Given the description of an element on the screen output the (x, y) to click on. 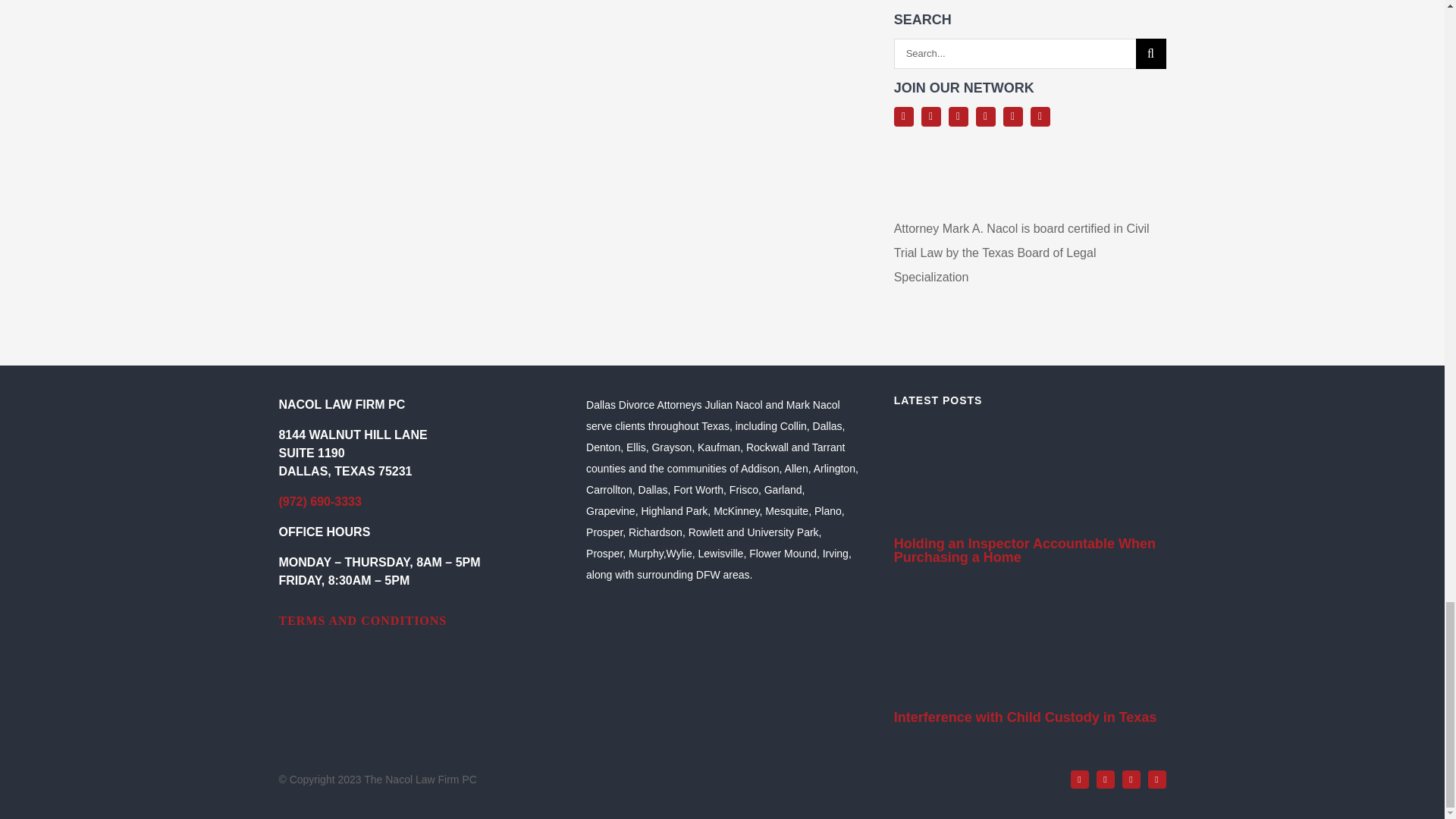
Twitter (1105, 779)
Pinterest (1039, 116)
LinkedIn (1013, 116)
Instagram (958, 116)
Facebook (903, 116)
Facebook (1079, 779)
Twitter (930, 116)
YouTube (985, 116)
